Given the description of an element on the screen output the (x, y) to click on. 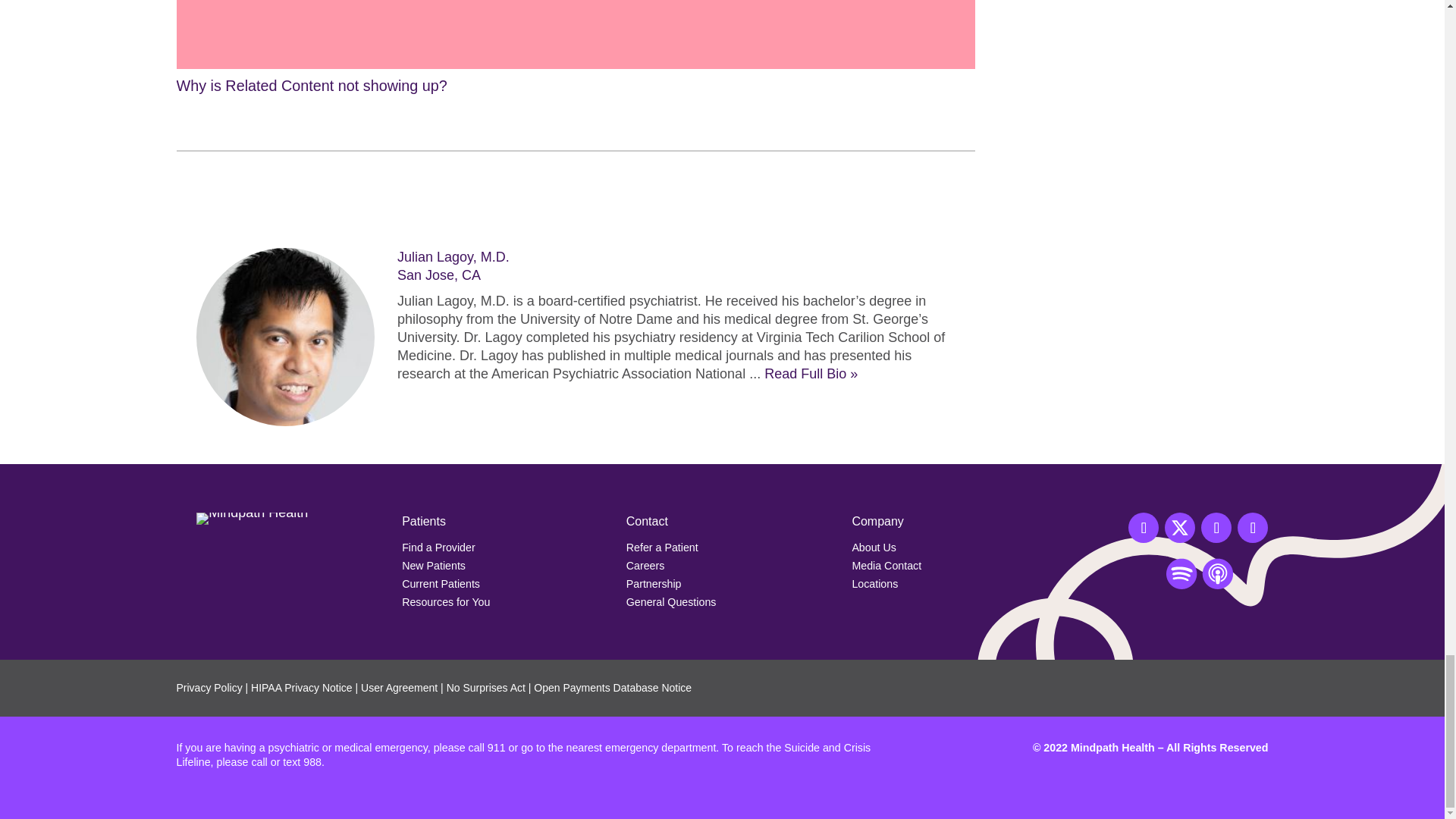
Find A Provider (438, 547)
Follow on Twitter (1179, 527)
Follow on Facebook (1143, 527)
Why is Related Content not showing up? (575, 48)
Follow on LinkedIn (1252, 527)
mindpath-logo-reverse-400 (251, 518)
Follow on Instagram (1216, 527)
